Given the description of an element on the screen output the (x, y) to click on. 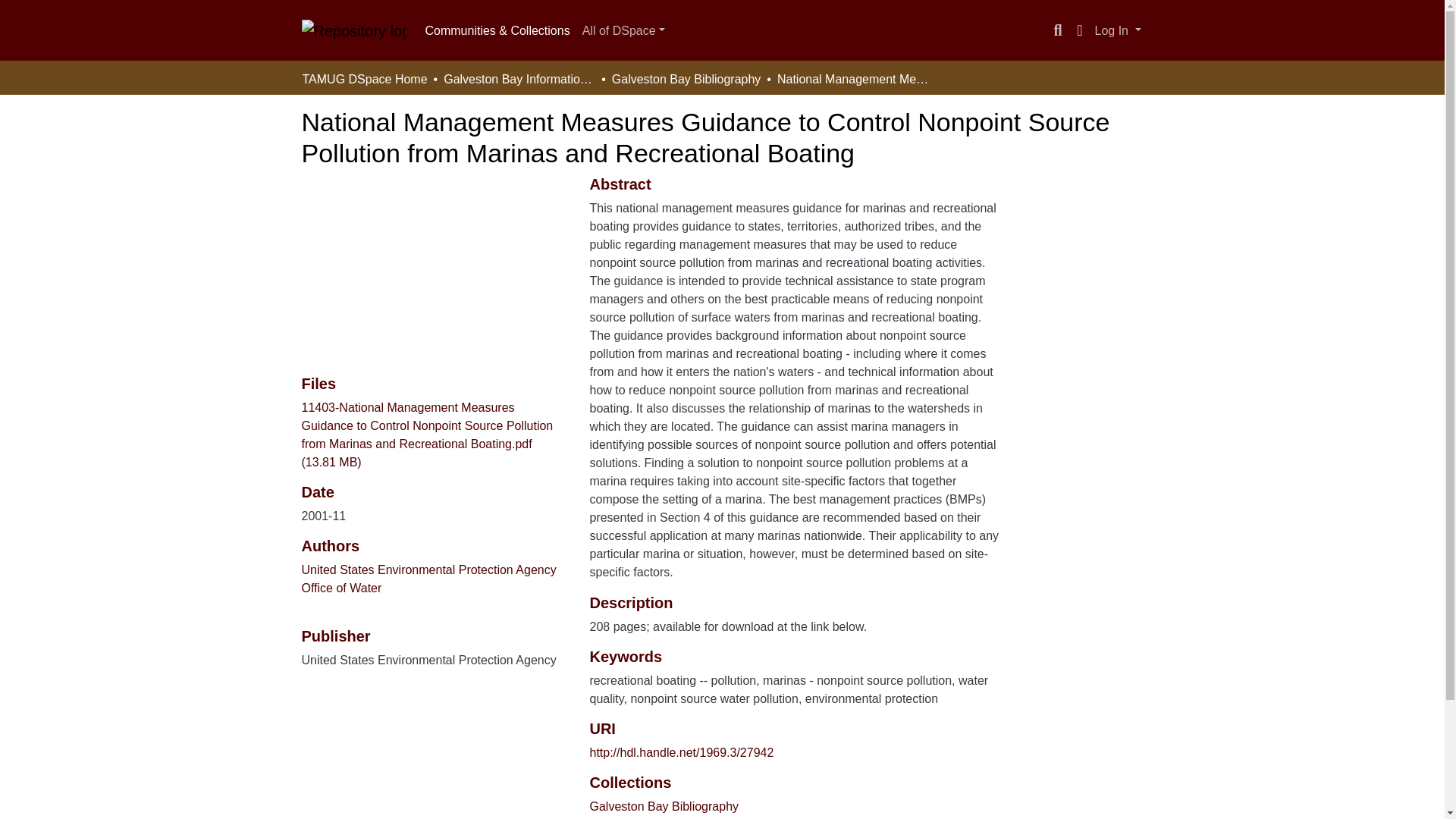
Log In (1117, 30)
TAMUG DSpace Home (363, 79)
Language switch (1079, 30)
Search (1057, 30)
Galveston Bay Information Collection (519, 79)
Galveston Bay Bibliography (663, 806)
Galveston Bay Bibliography (686, 79)
All of DSpace (623, 30)
